Given the description of an element on the screen output the (x, y) to click on. 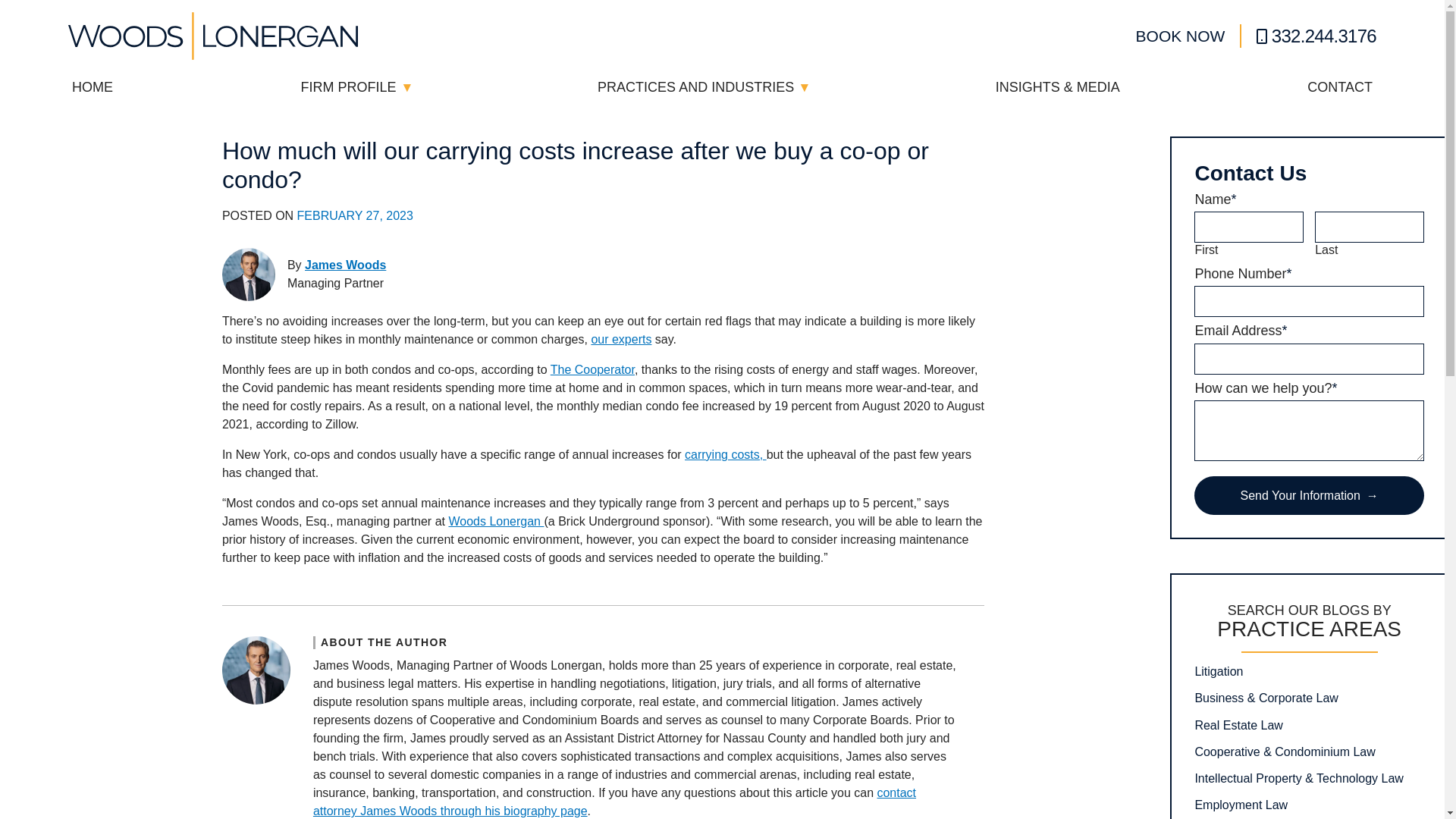
CONTACT (1339, 90)
Real Estate Law (1308, 725)
PRACTICES AND INDUSTRIES (702, 90)
contact attorney James Woods through his biography page (614, 801)
Litigation (1308, 671)
The Cooperator (592, 369)
HOME (92, 90)
James Woods (344, 264)
carrying costs,  (725, 454)
FEBRUARY 27, 2023 (355, 215)
Woods Lonergan  (495, 521)
BOOK NOW (1188, 36)
our experts (620, 338)
Send Your Information (1308, 495)
